Given the description of an element on the screen output the (x, y) to click on. 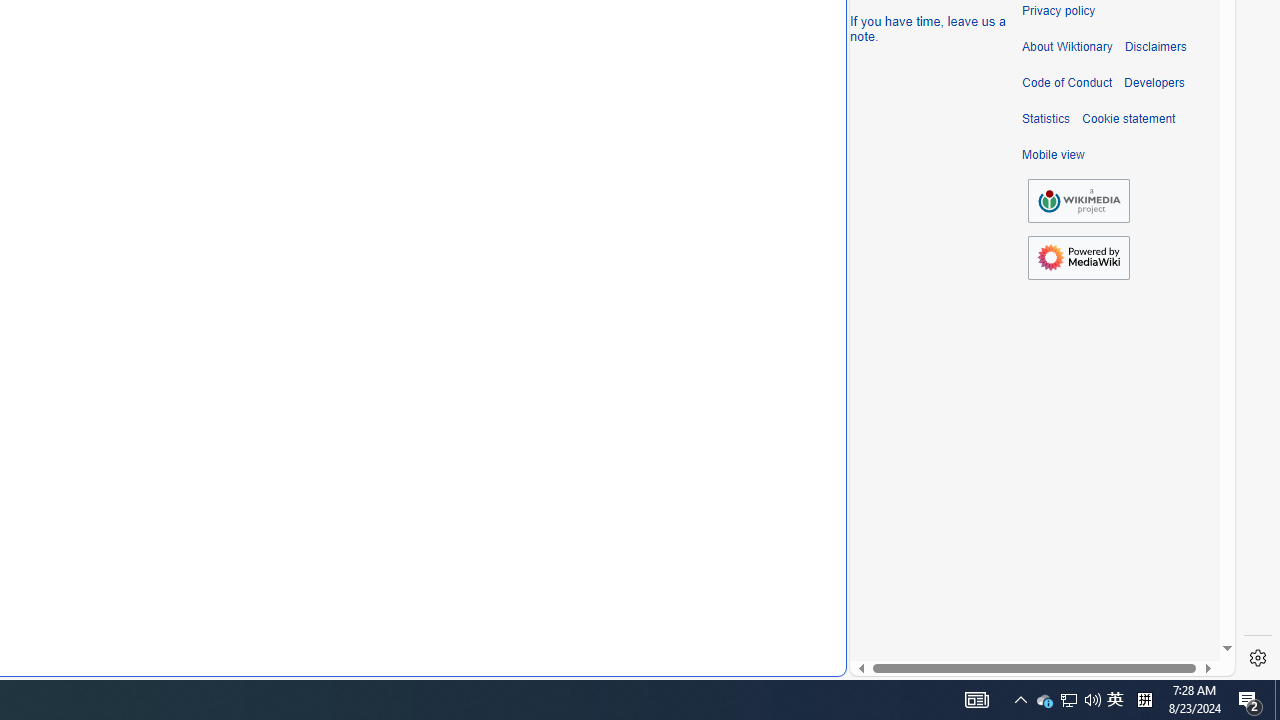
Wikimedia Foundation (1078, 200)
Code of Conduct (1067, 83)
Disclaimers (1154, 47)
AutomationID: footer-copyrightico (1078, 200)
